Given the description of an element on the screen output the (x, y) to click on. 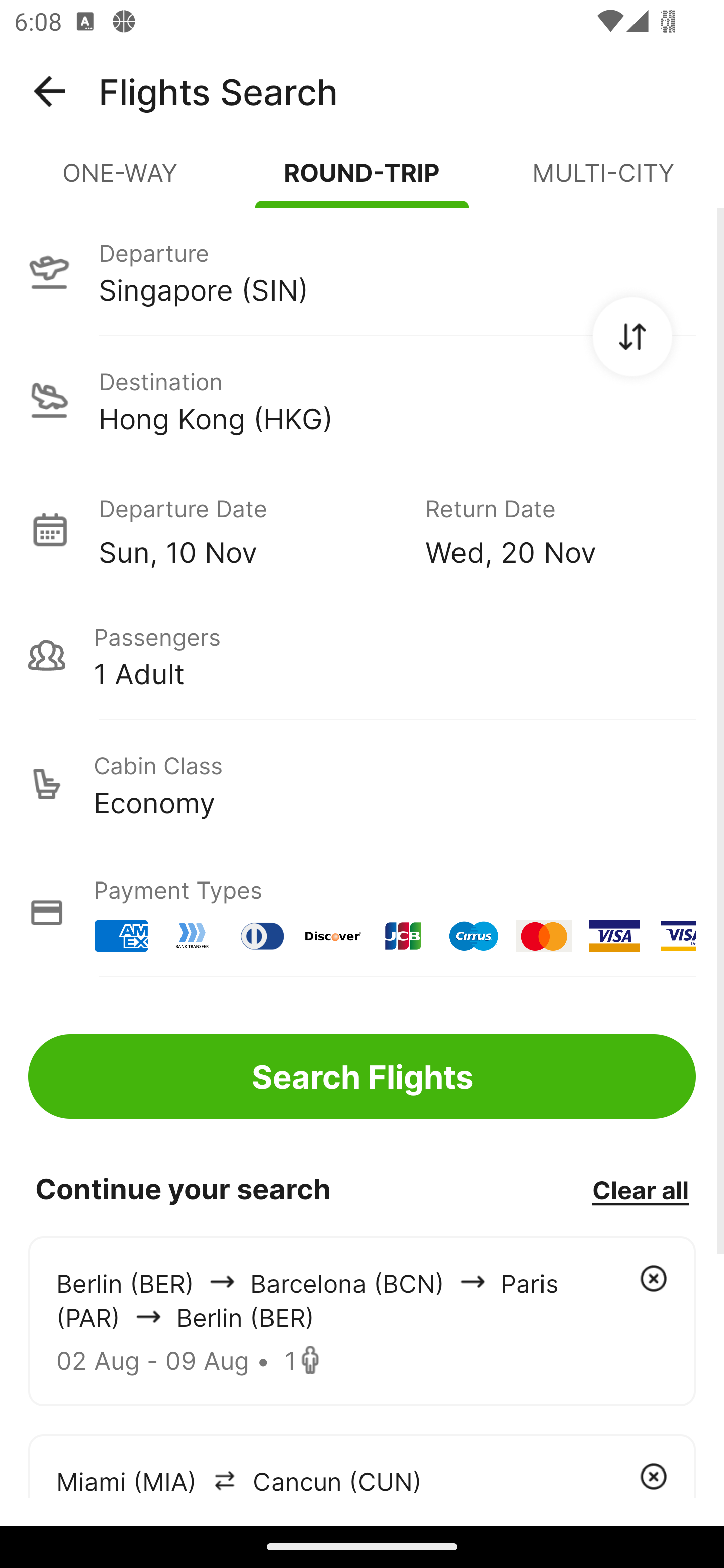
ONE-WAY (120, 180)
ROUND-TRIP (361, 180)
MULTI-CITY (603, 180)
Departure Singapore (SIN) (362, 270)
Destination Hong Kong (HKG) (362, 400)
Departure Date Sun, 10 Nov (247, 528)
Return Date Wed, 20 Nov (546, 528)
Passengers 1 Adult (362, 655)
Cabin Class Economy (362, 783)
Payment Types (362, 912)
Search Flights (361, 1075)
Clear all (640, 1189)
Miami (MIA)  arrowIcon  Cancun (CUN) (361, 1465)
